Given the description of an element on the screen output the (x, y) to click on. 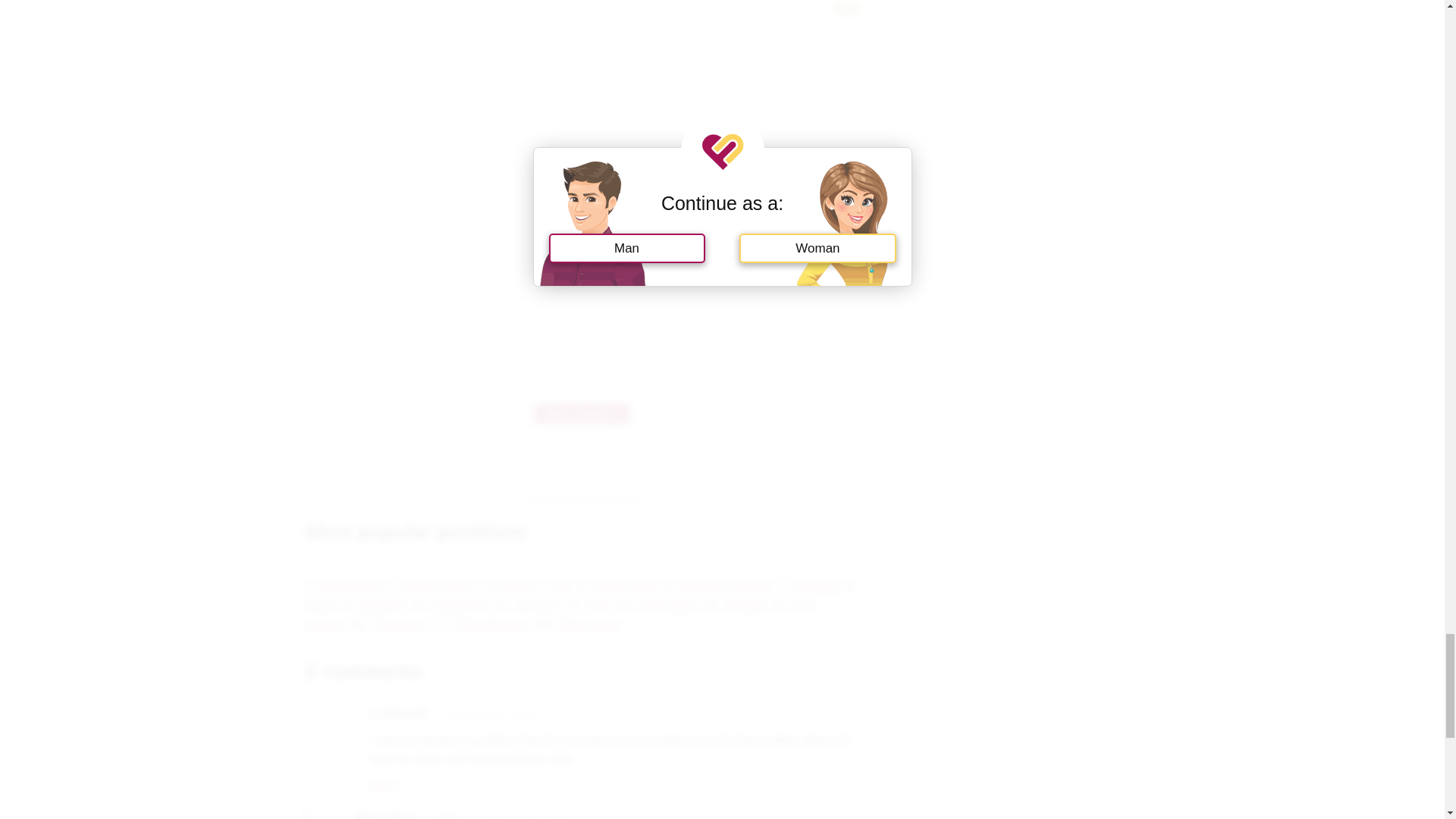
95. Flatiron (581, 413)
